Given the description of an element on the screen output the (x, y) to click on. 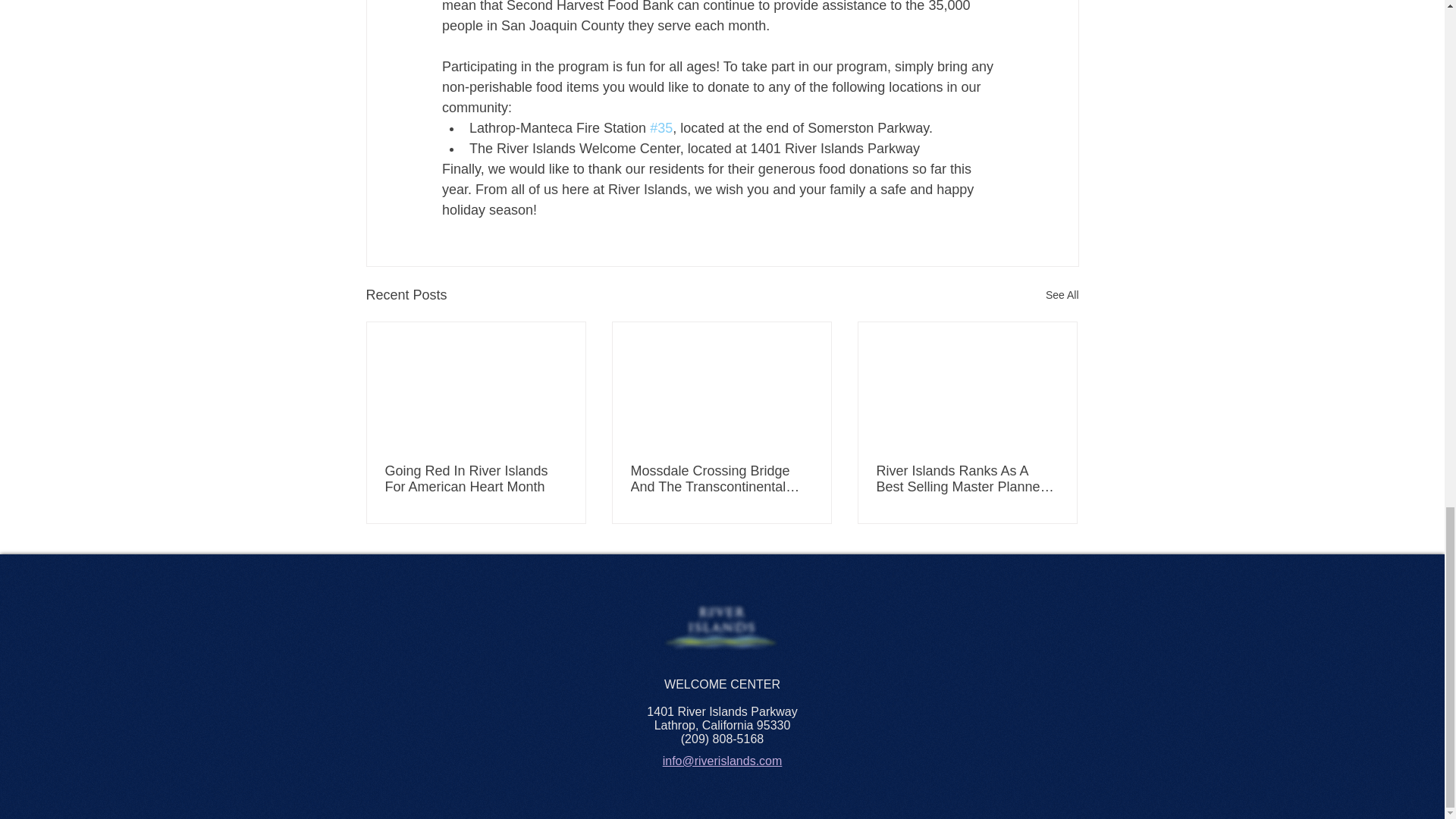
See All (1061, 295)
Going Red In River Islands For American Heart Month (476, 479)
Mossdale Crossing Bridge And The Transcontinental Railroad (721, 479)
